Given the description of an element on the screen output the (x, y) to click on. 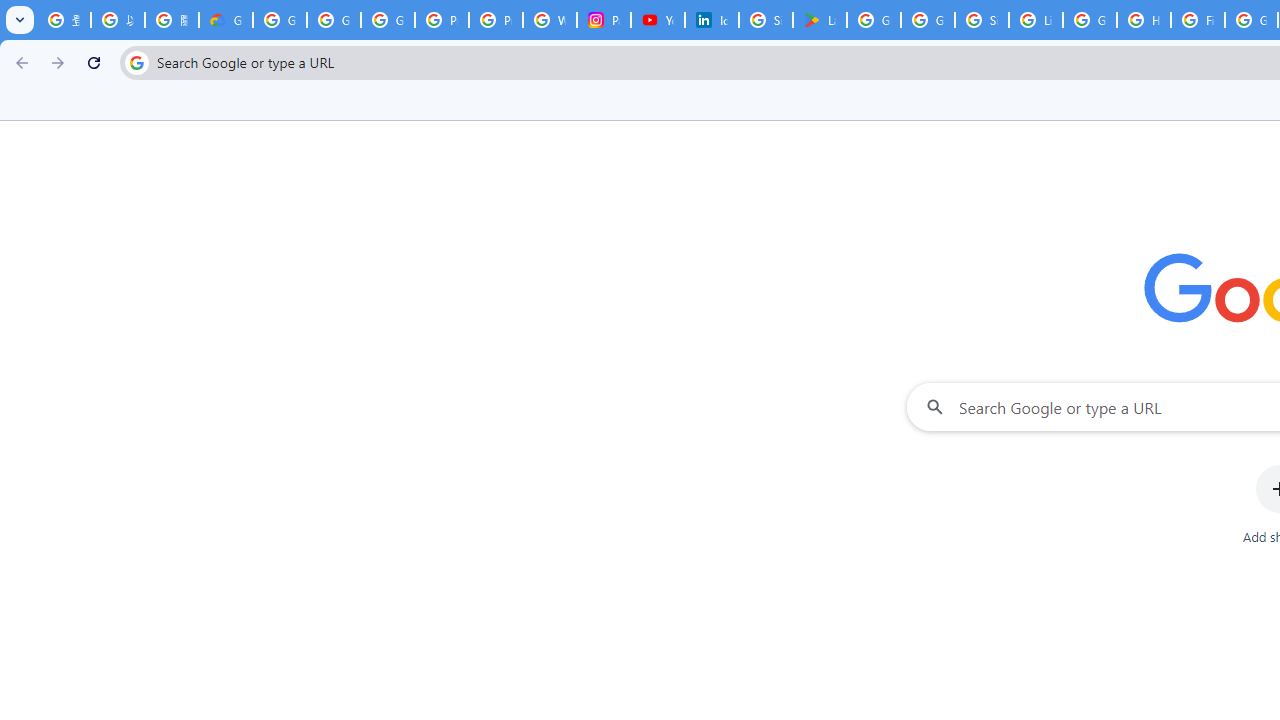
Google Workspace - Specific Terms (927, 20)
Privacy Help Center - Policies Help (441, 20)
Sign in - Google Accounts (765, 20)
Last Shelter: Survival - Apps on Google Play (819, 20)
